Given the description of an element on the screen output the (x, y) to click on. 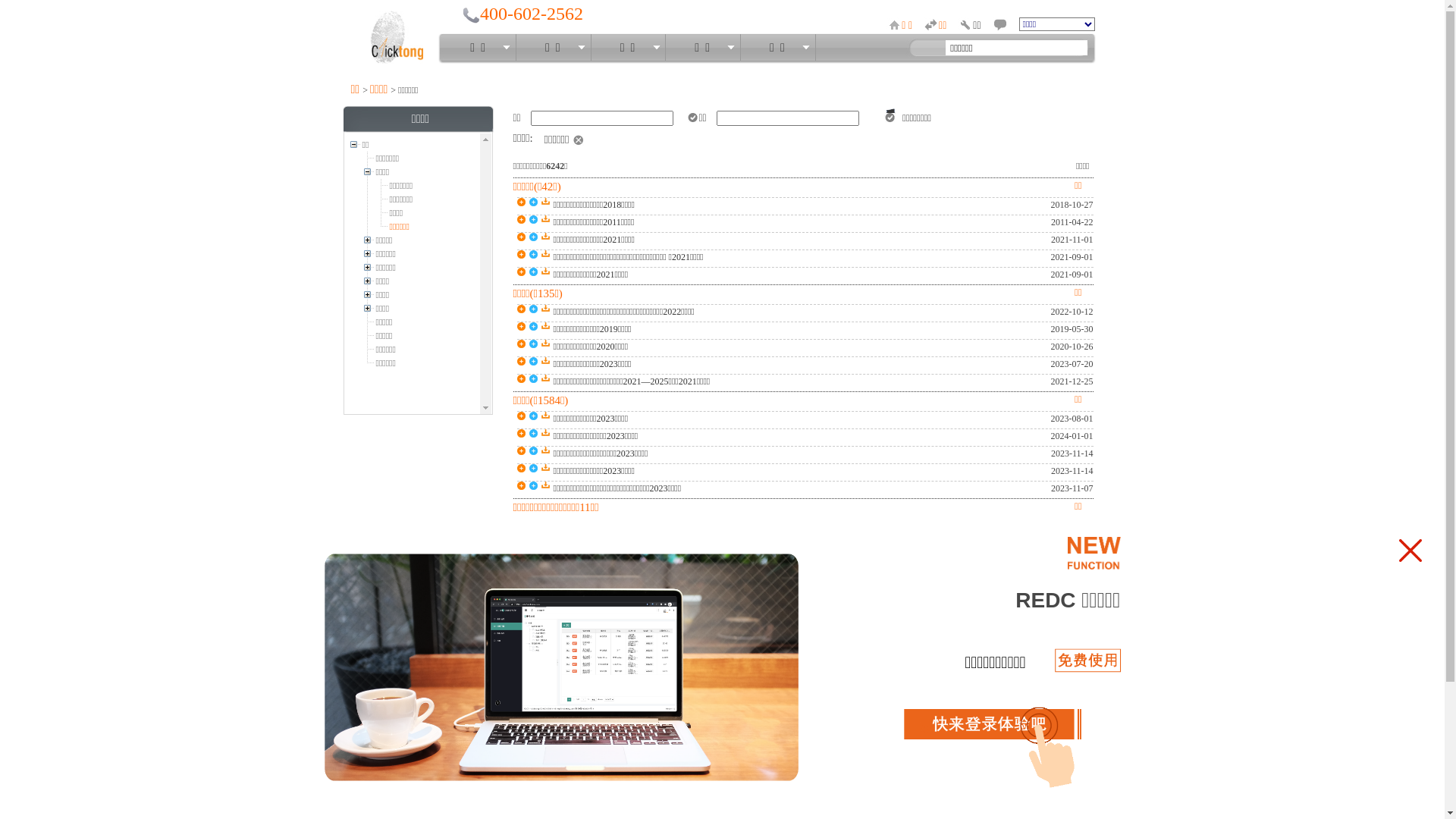
     Element type: text (1098, 47)
